Given the description of an element on the screen output the (x, y) to click on. 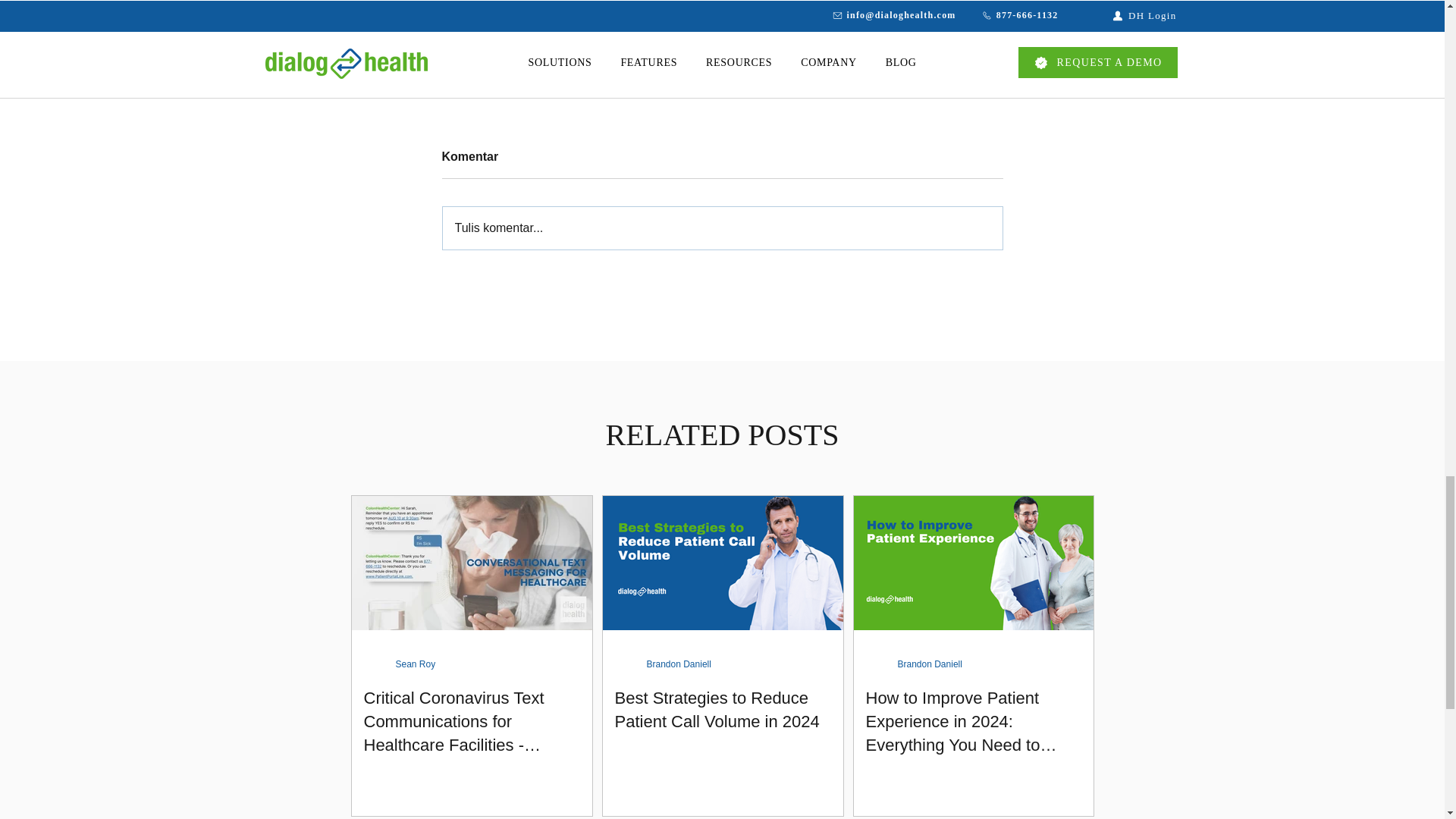
Brandon Daniell (930, 664)
Brandon Daniell (678, 664)
Sean Roy (415, 664)
